Given the description of an element on the screen output the (x, y) to click on. 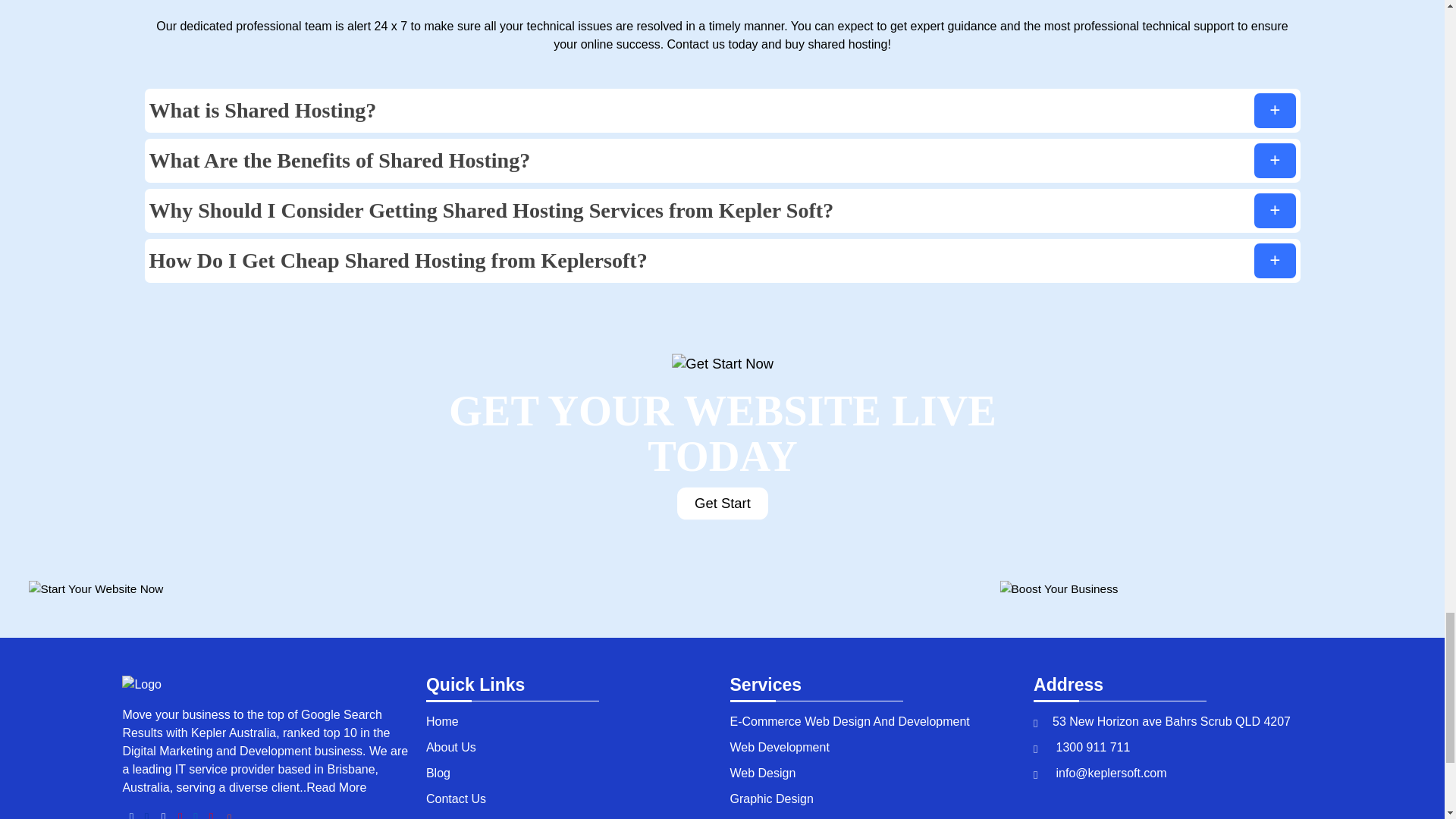
How Do I Get Cheap Shared Hosting from Keplersoft? (722, 260)
What is Shared Hosting? (722, 110)
What Are the Benefits of Shared Hosting? (722, 160)
